Given the description of an element on the screen output the (x, y) to click on. 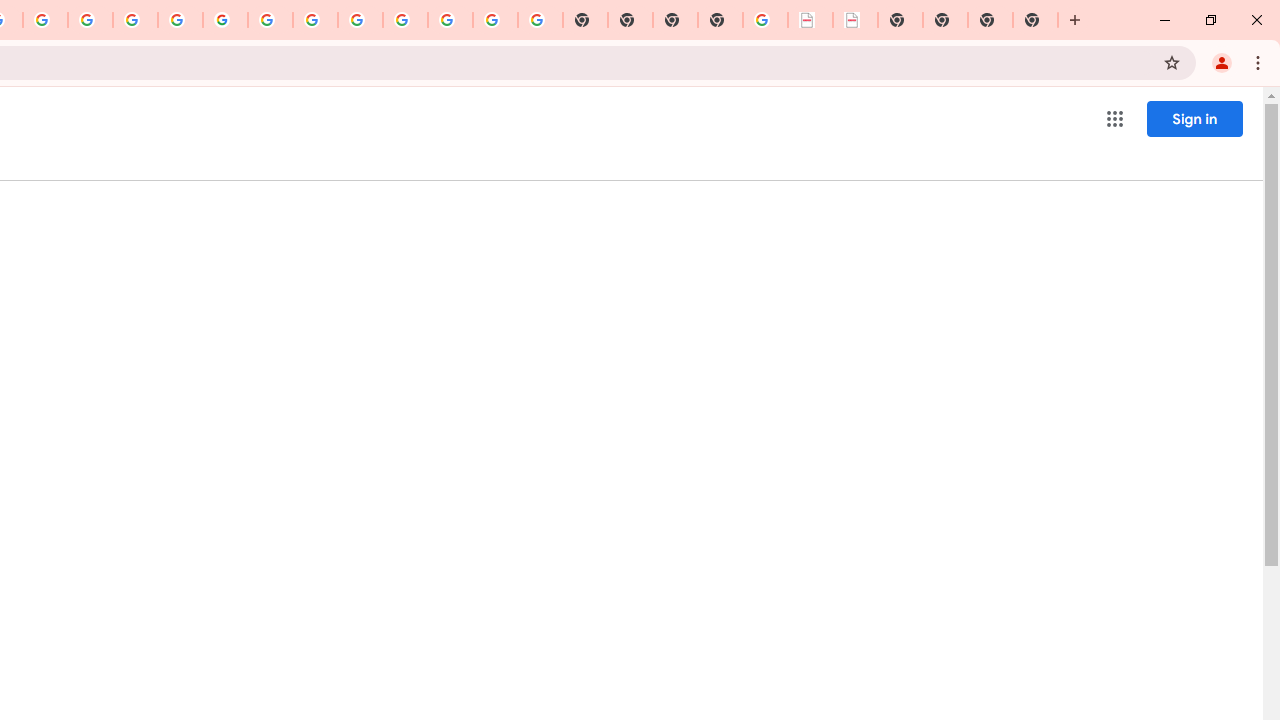
Privacy Help Center - Policies Help (134, 20)
Privacy Help Center - Policies Help (89, 20)
Google apps (1114, 118)
LAAD Defence & Security 2025 | BAE Systems (810, 20)
Minimize (1165, 20)
Google Images (540, 20)
BAE Systems Brasil | BAE Systems (855, 20)
